Given the description of an element on the screen output the (x, y) to click on. 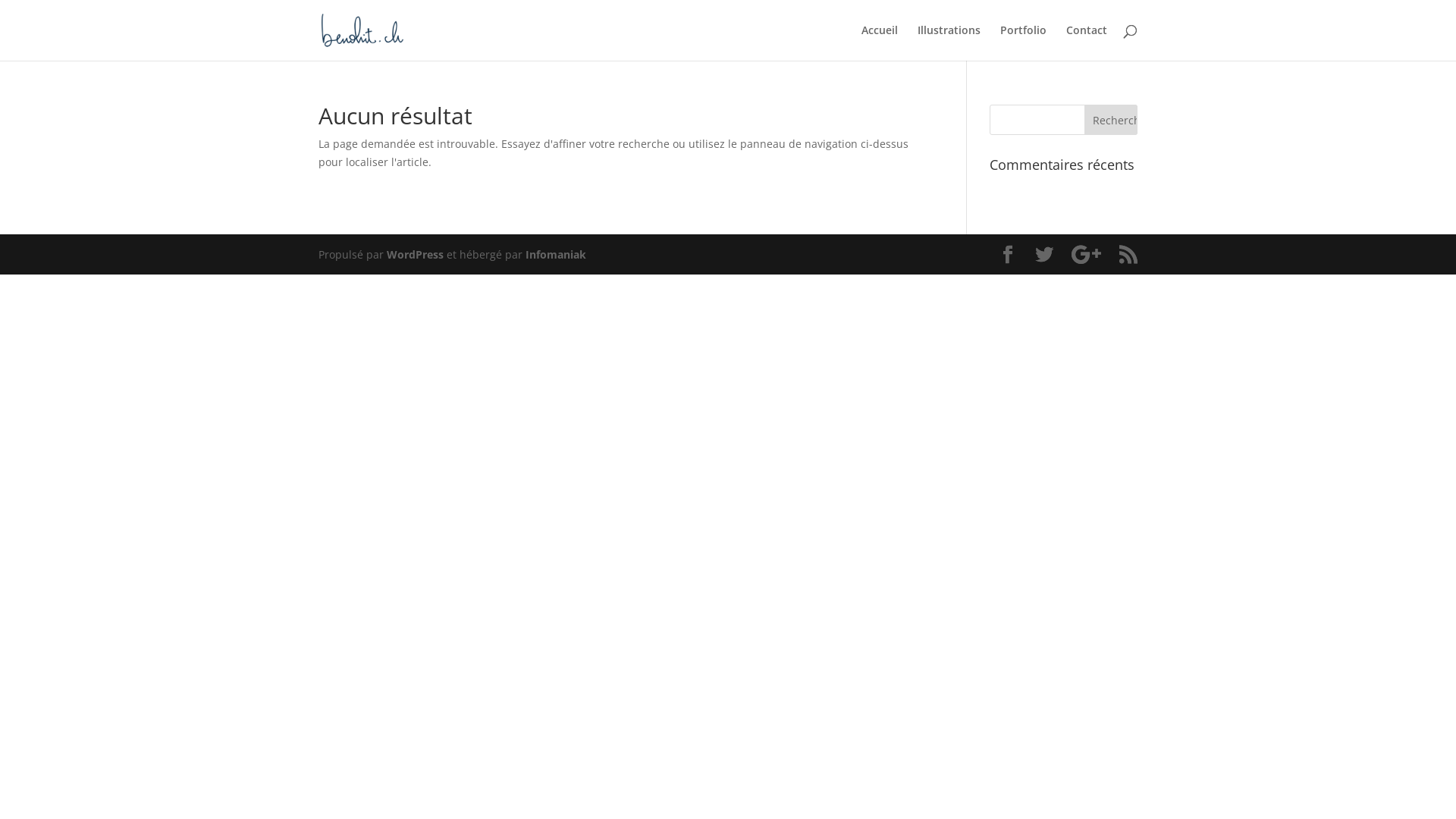
Contact Element type: text (1086, 42)
Portfolio Element type: text (1023, 42)
Illustrations Element type: text (948, 42)
WordPress Element type: text (414, 254)
Infomaniak Element type: text (555, 254)
Accueil Element type: text (879, 42)
Rechercher Element type: text (1110, 119)
